Given the description of an element on the screen output the (x, y) to click on. 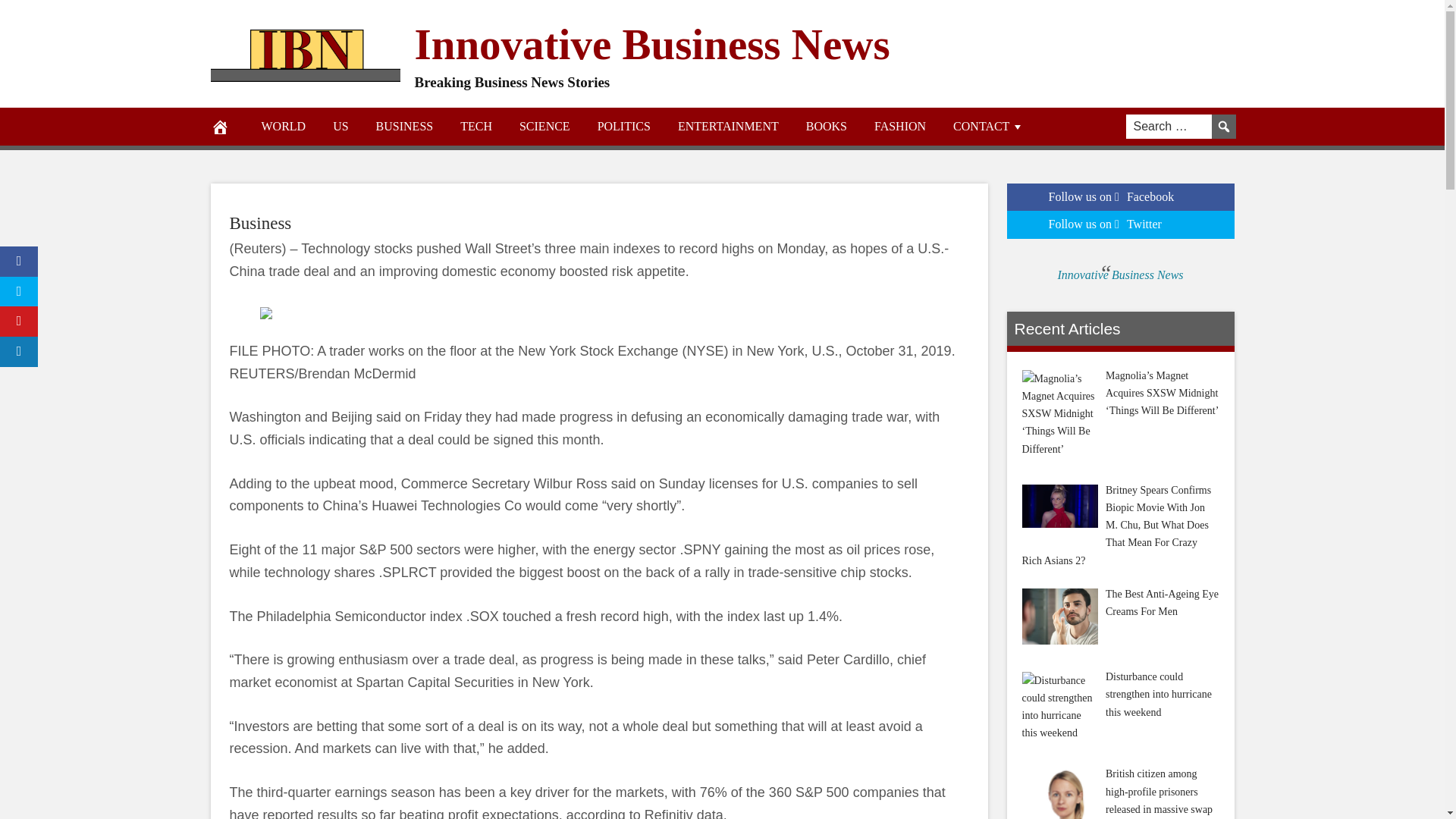
WORLD (282, 126)
BUSINESS (404, 126)
US (339, 126)
Innovative Business News (651, 43)
SCIENCE (544, 126)
TECH (475, 126)
POLITICS (623, 126)
The Best Anti-Ageing Eye Creams For Men (1059, 616)
ENTERTAINMENT (727, 126)
CONTACT (988, 126)
Business (259, 222)
Disturbance could strengthen into hurricane this weekend (1059, 706)
BOOKS (826, 126)
FASHION (899, 126)
